Given the description of an element on the screen output the (x, y) to click on. 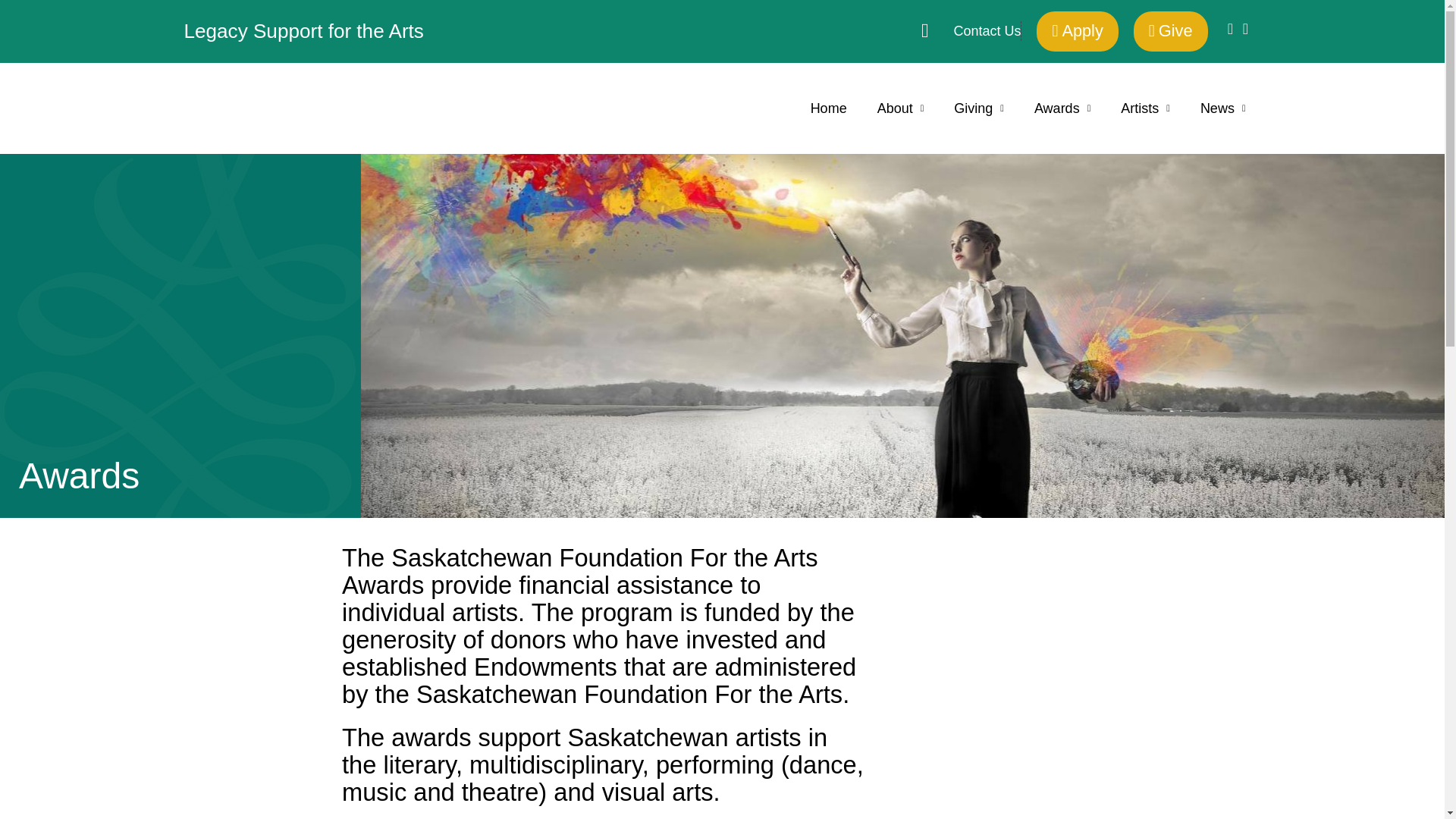
Home (827, 108)
Giving (979, 108)
Contact Us (971, 30)
About (900, 108)
Give (1171, 31)
Apply (1077, 31)
Awards (1062, 108)
